Given the description of an element on the screen output the (x, y) to click on. 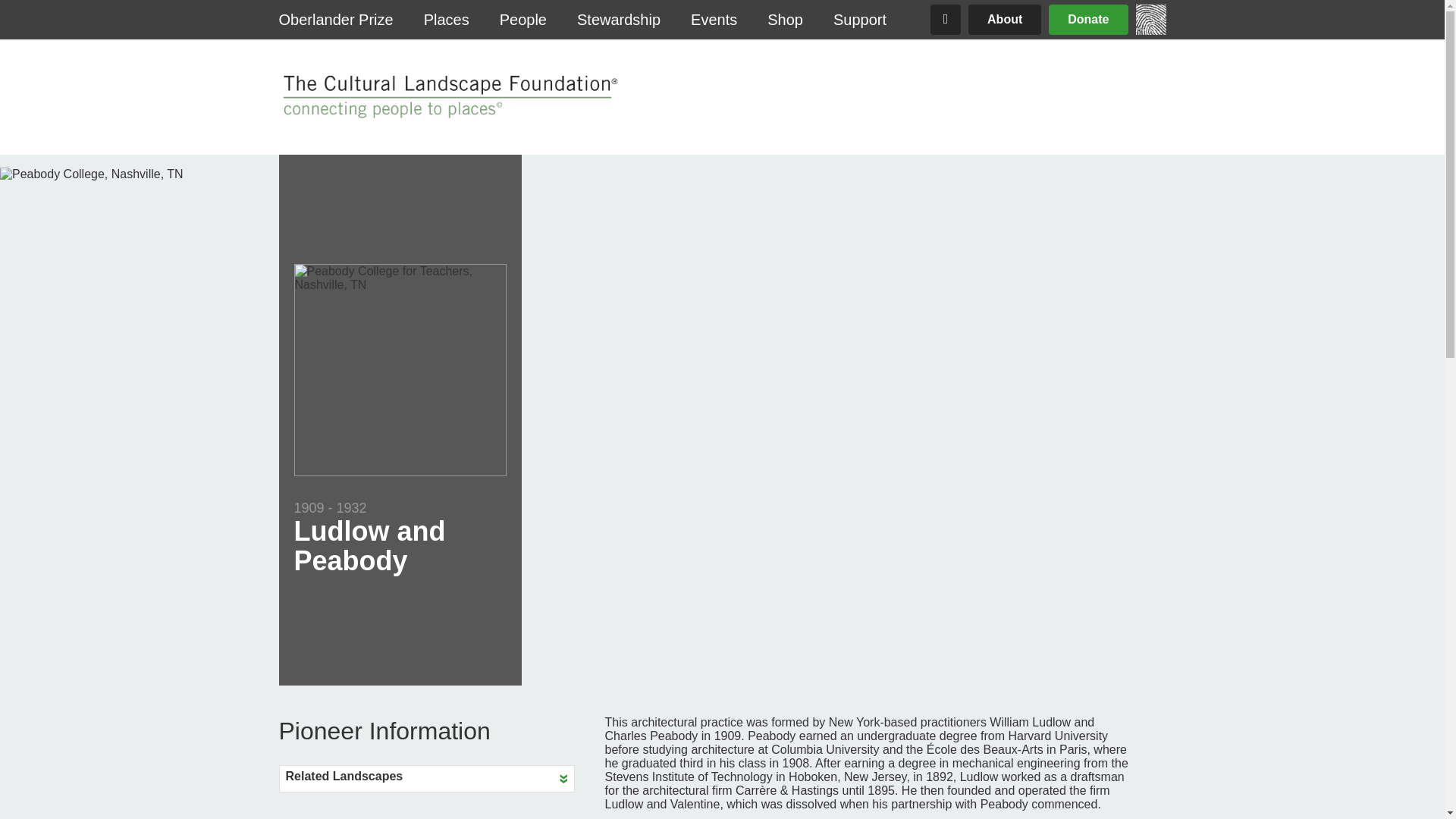
Places (446, 19)
Home (1150, 30)
Oberlander Prize (336, 19)
Home (448, 96)
